Given the description of an element on the screen output the (x, y) to click on. 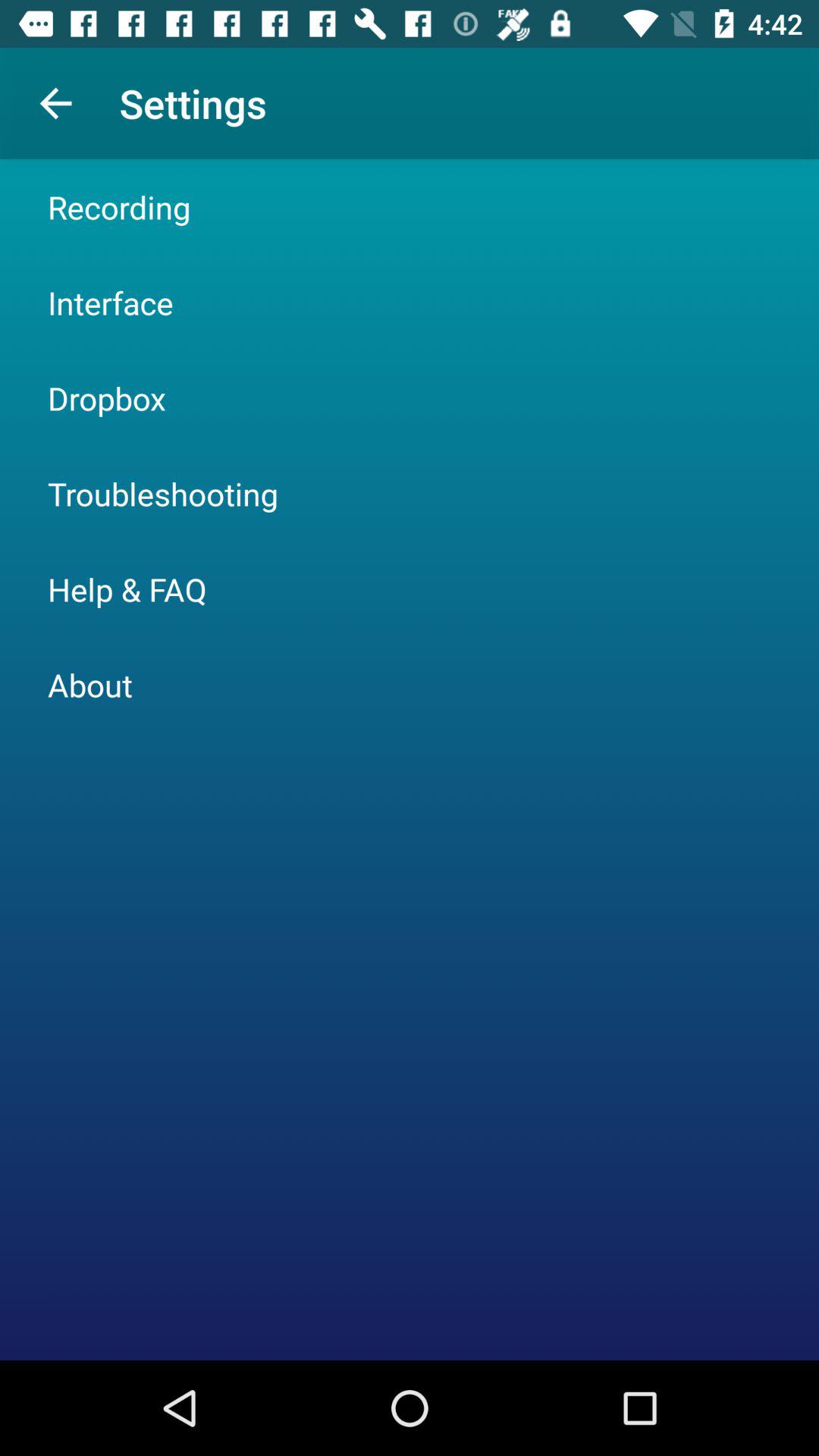
click the icon below the dropbox icon (162, 493)
